Given the description of an element on the screen output the (x, y) to click on. 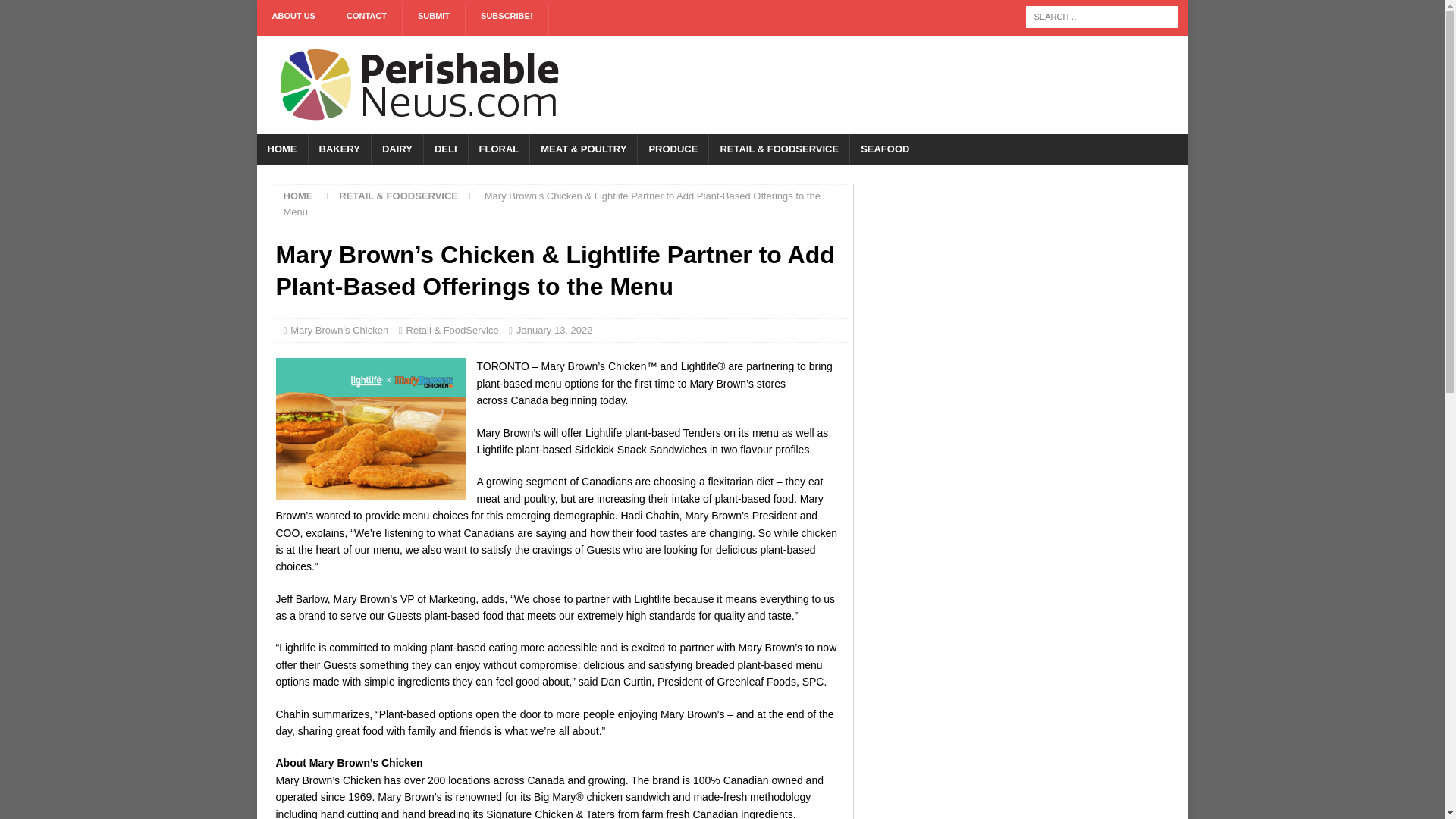
ABOUT US (293, 19)
SUBMIT (434, 19)
CONTACT (367, 19)
HOME (281, 149)
FLORAL (498, 149)
3rd party ad content (890, 84)
Mary Brown's Chicken (338, 329)
BAKERY (339, 149)
SEAFOOD (884, 149)
SUBSCRIBE! (506, 19)
